Given the description of an element on the screen output the (x, y) to click on. 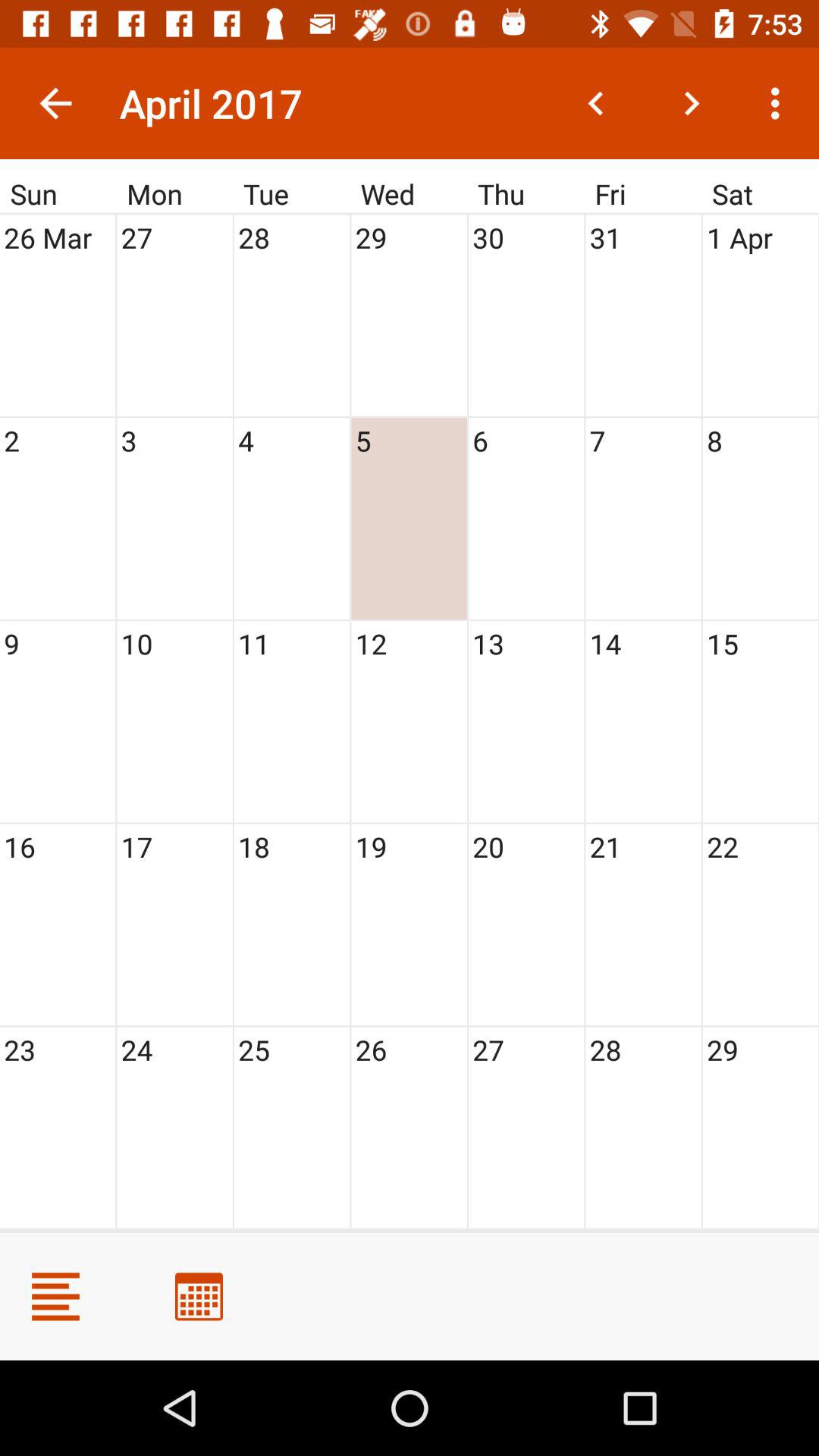
next month (691, 103)
